Given the description of an element on the screen output the (x, y) to click on. 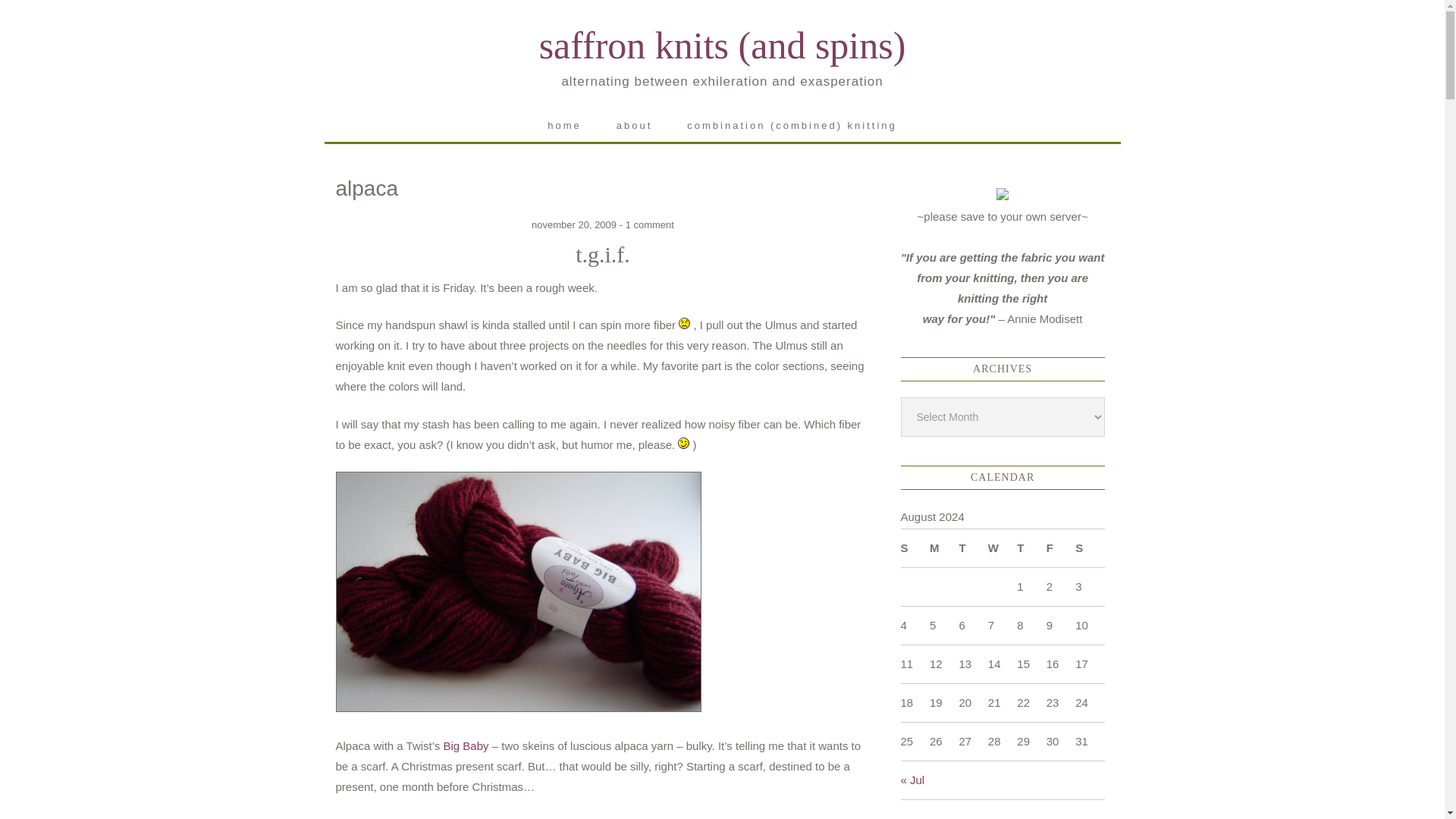
about (634, 124)
1 comment (650, 224)
Home (564, 124)
november 20, 2009 (573, 224)
Big Baby (466, 745)
home (564, 124)
Comment on t.g.i.f. (650, 224)
t.g.i.f. (602, 253)
skip to content (389, 121)
